Given the description of an element on the screen output the (x, y) to click on. 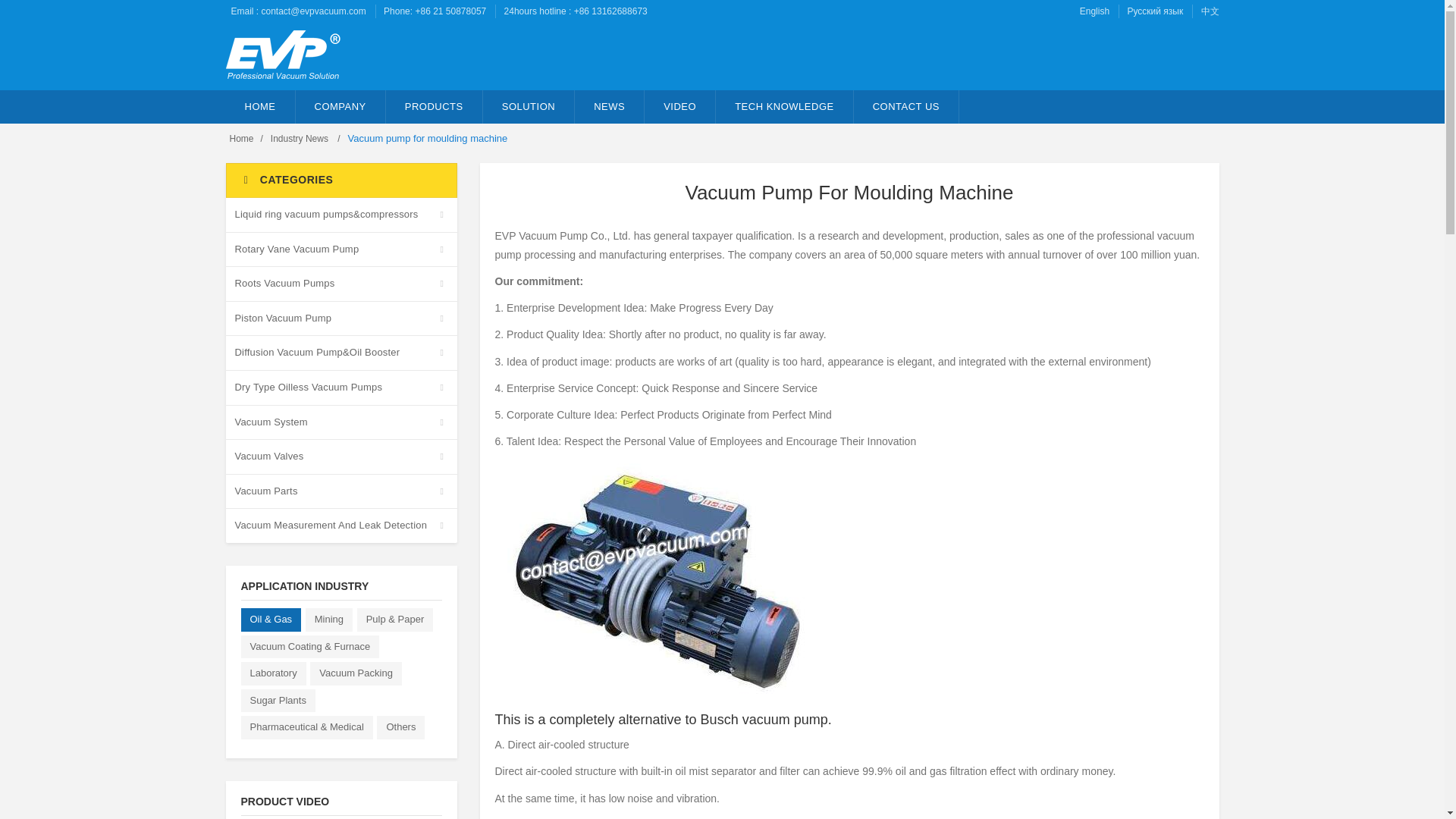
English (1094, 10)
SOLUTION (529, 106)
Rotary Vane Vacuum Pump (341, 249)
Home (240, 138)
VIDEO (680, 106)
NEWS (610, 106)
Industry News (300, 138)
COMPANY (340, 106)
HOME (260, 106)
Vacuum pump for moulding machine (663, 578)
